Given the description of an element on the screen output the (x, y) to click on. 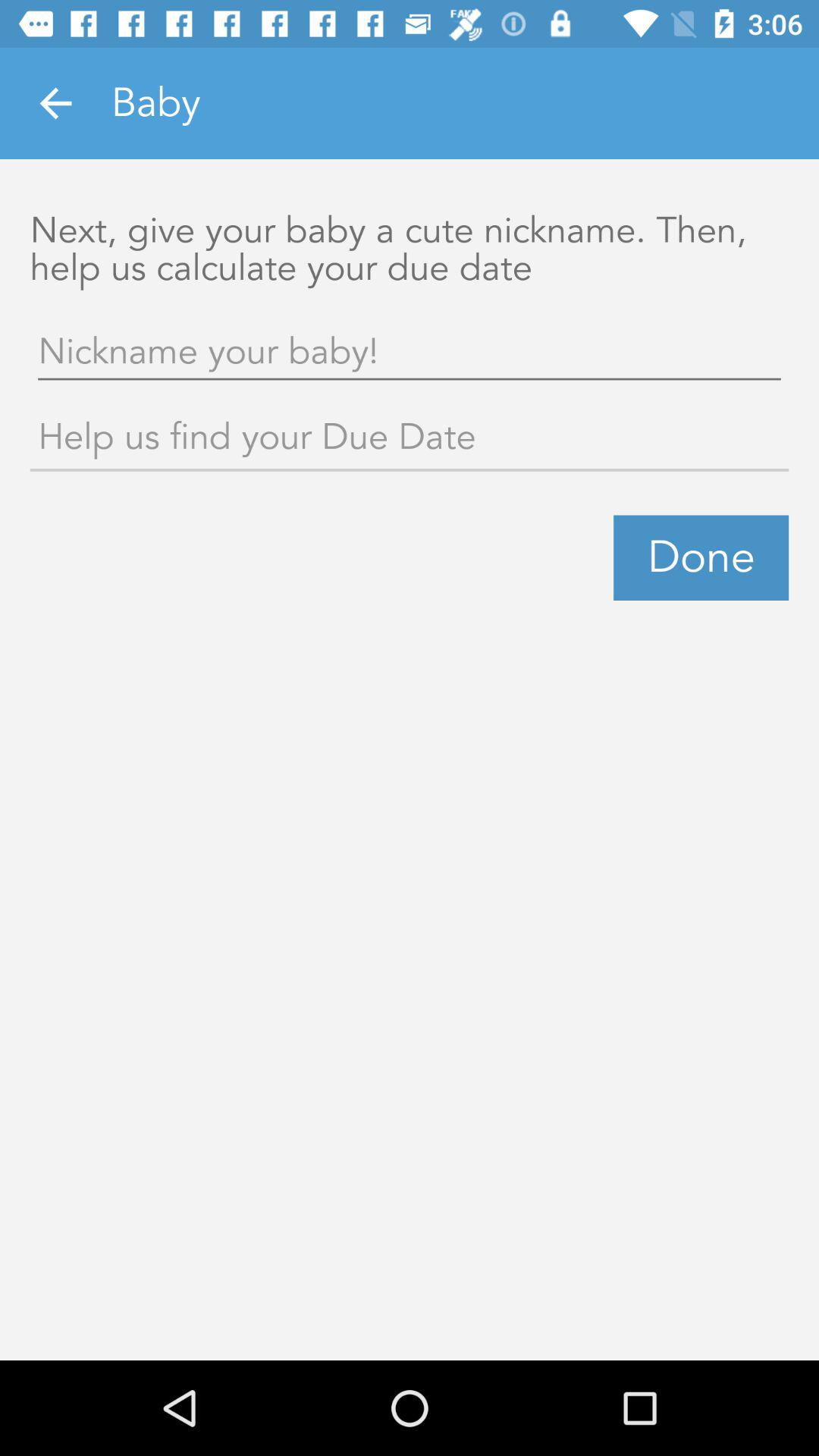
launch item on the right (700, 557)
